Given the description of an element on the screen output the (x, y) to click on. 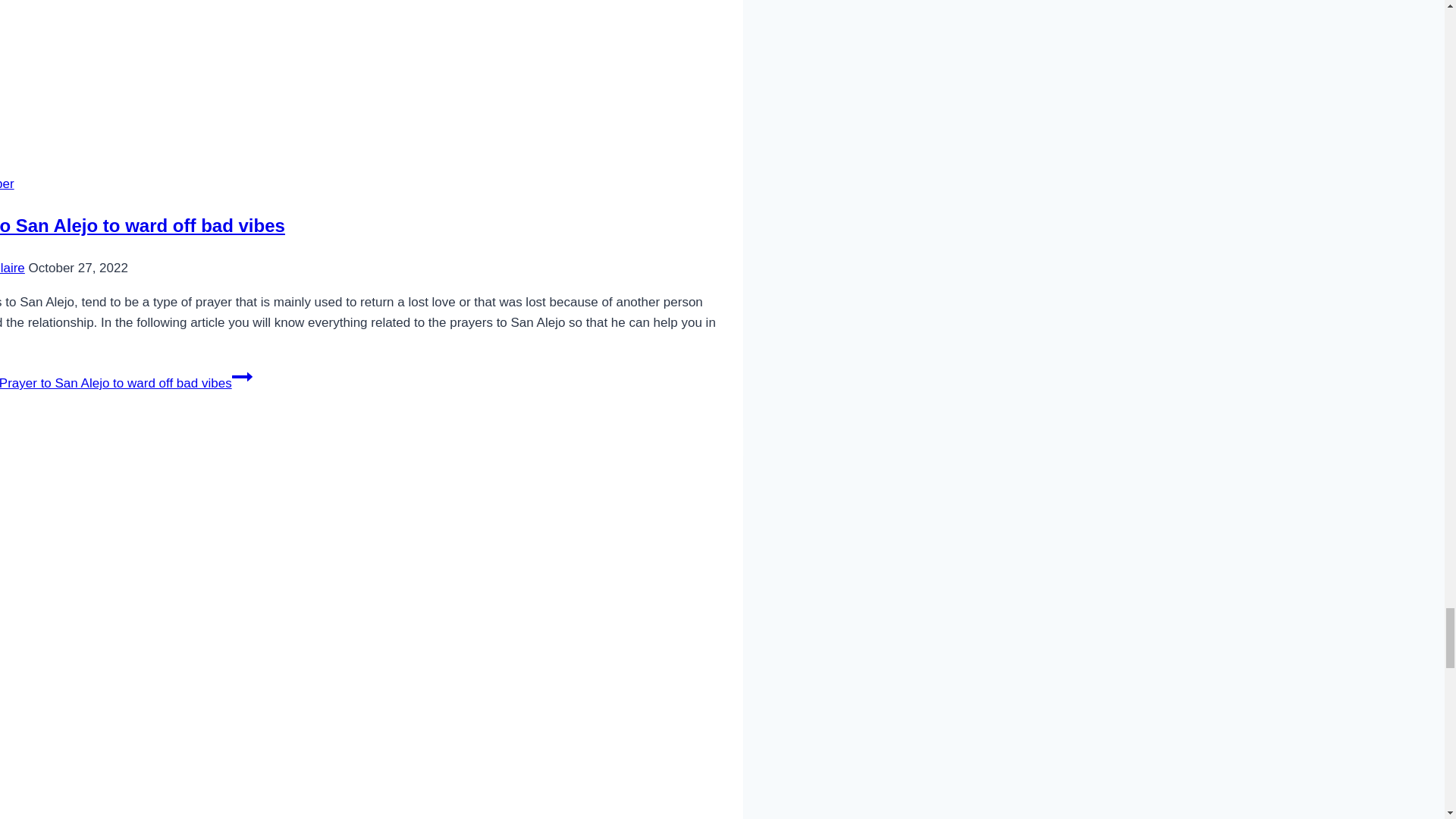
Angel Number (7, 183)
Kelly D Claire (12, 268)
Read More Prayer to San Alejo to ward off bad vibesContinue (125, 382)
Prayer to San Alejo to ward off bad vibes (142, 225)
Continue (241, 376)
